Given the description of an element on the screen output the (x, y) to click on. 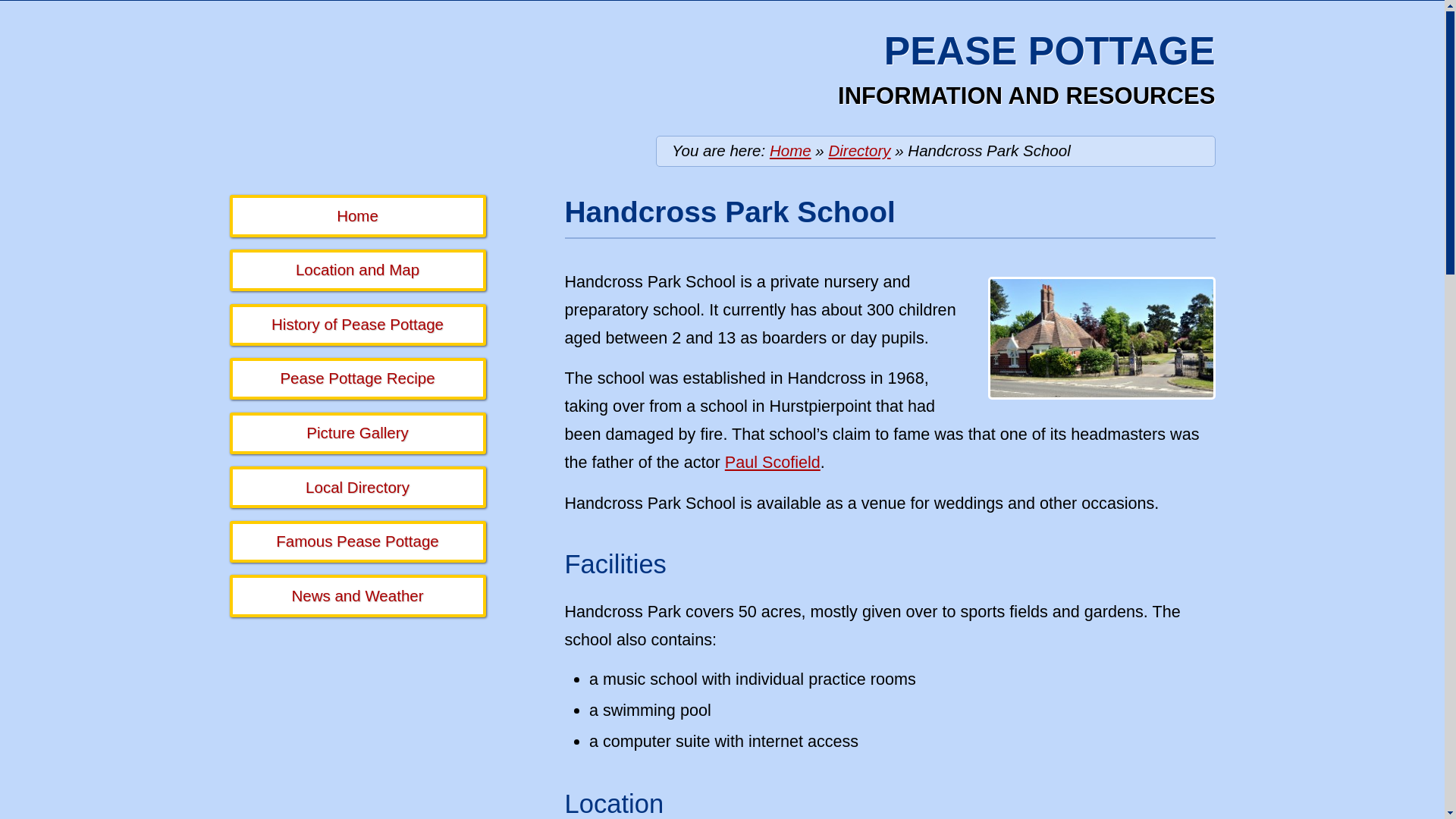
Pease Pottage Recipe (356, 378)
Skip the navigation (641, 27)
Pease Pottage in Sussex (790, 149)
Pease Pottage in West Sussex, UK (356, 215)
Location and Map (356, 270)
Paul Scofield (773, 461)
Home (356, 215)
Home (790, 149)
Pease Pottage news and weather (356, 595)
Famous people and events in Pease Pottage (356, 541)
